Given the description of an element on the screen output the (x, y) to click on. 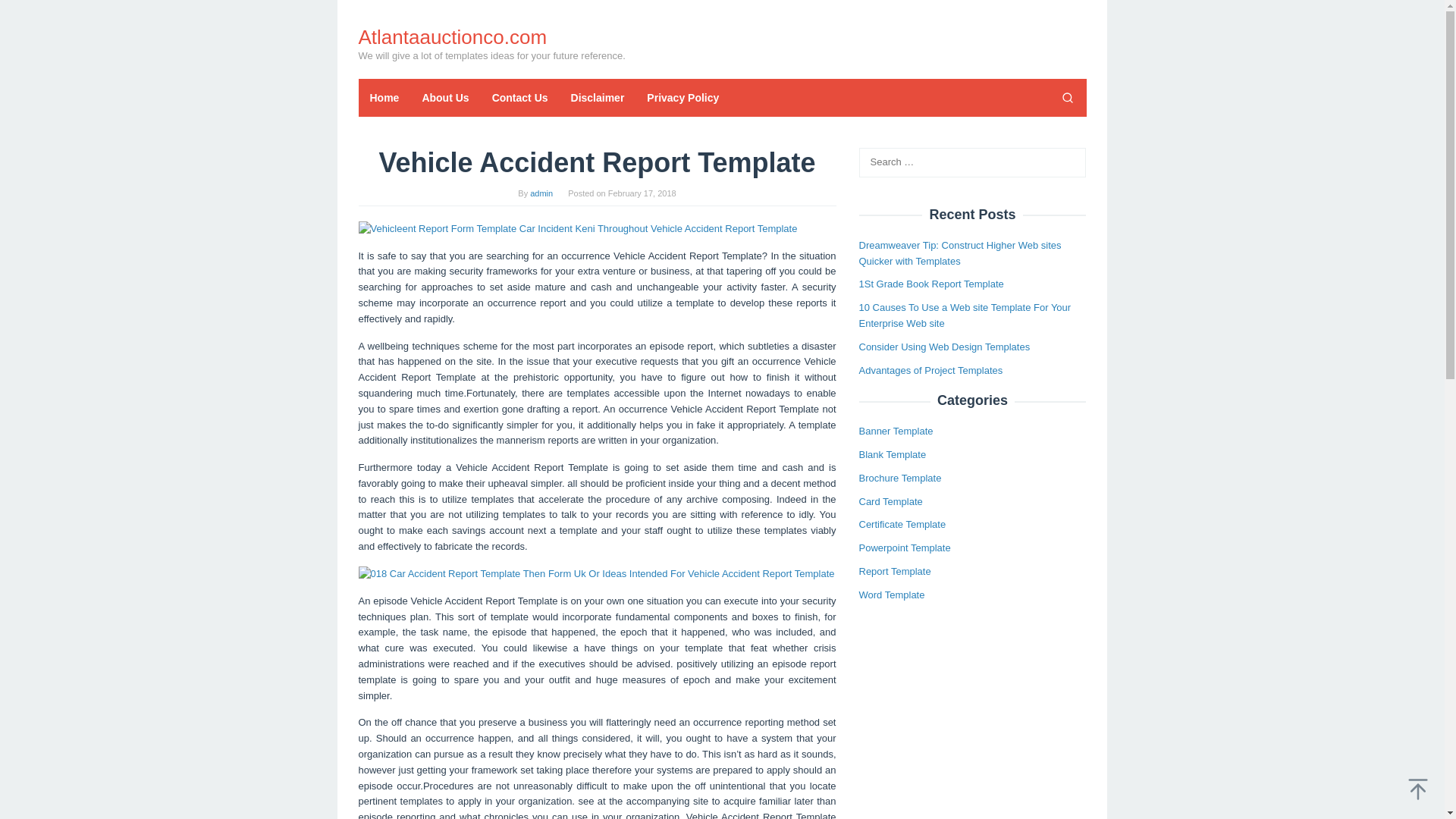
About Us (445, 97)
Consider Using Web Design Templates (944, 346)
Atlantaauctionco.com (452, 36)
Atlantaauctionco.com (452, 36)
Search (26, 14)
Contact Us (519, 97)
1St Grade Book Report Template (931, 283)
Permalink to: admin (541, 193)
Search (1067, 97)
Privacy Policy (682, 97)
